Given the description of an element on the screen output the (x, y) to click on. 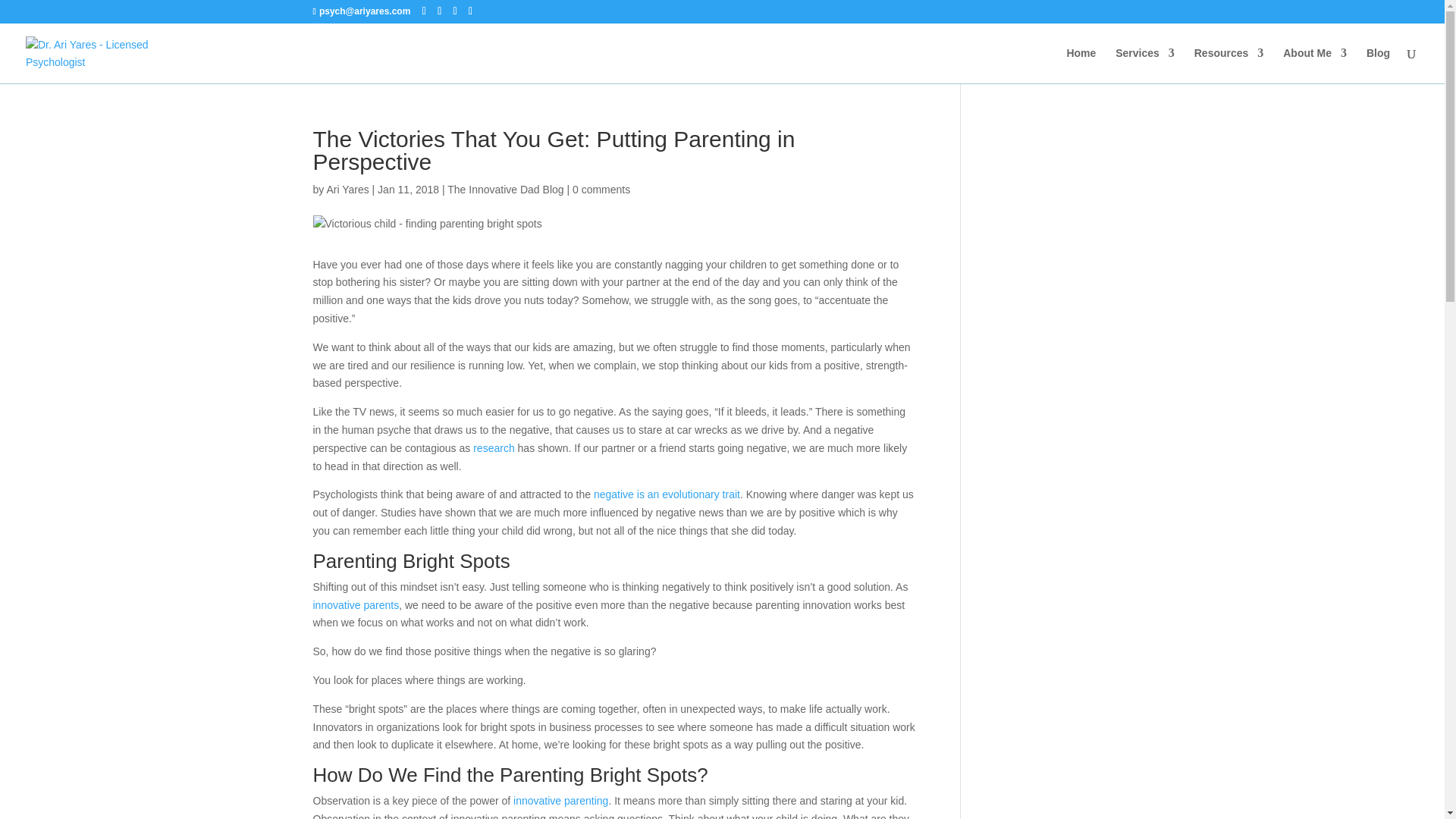
Ari Yares (347, 189)
Posts by Ari Yares (347, 189)
0 comments (601, 189)
Resources (1228, 65)
innovative parenting (560, 800)
About Me (1314, 65)
research (493, 448)
innovative parents (355, 604)
Services (1144, 65)
The Innovative Dad Blog (504, 189)
negative is an evolutionary trait (666, 494)
